Given the description of an element on the screen output the (x, y) to click on. 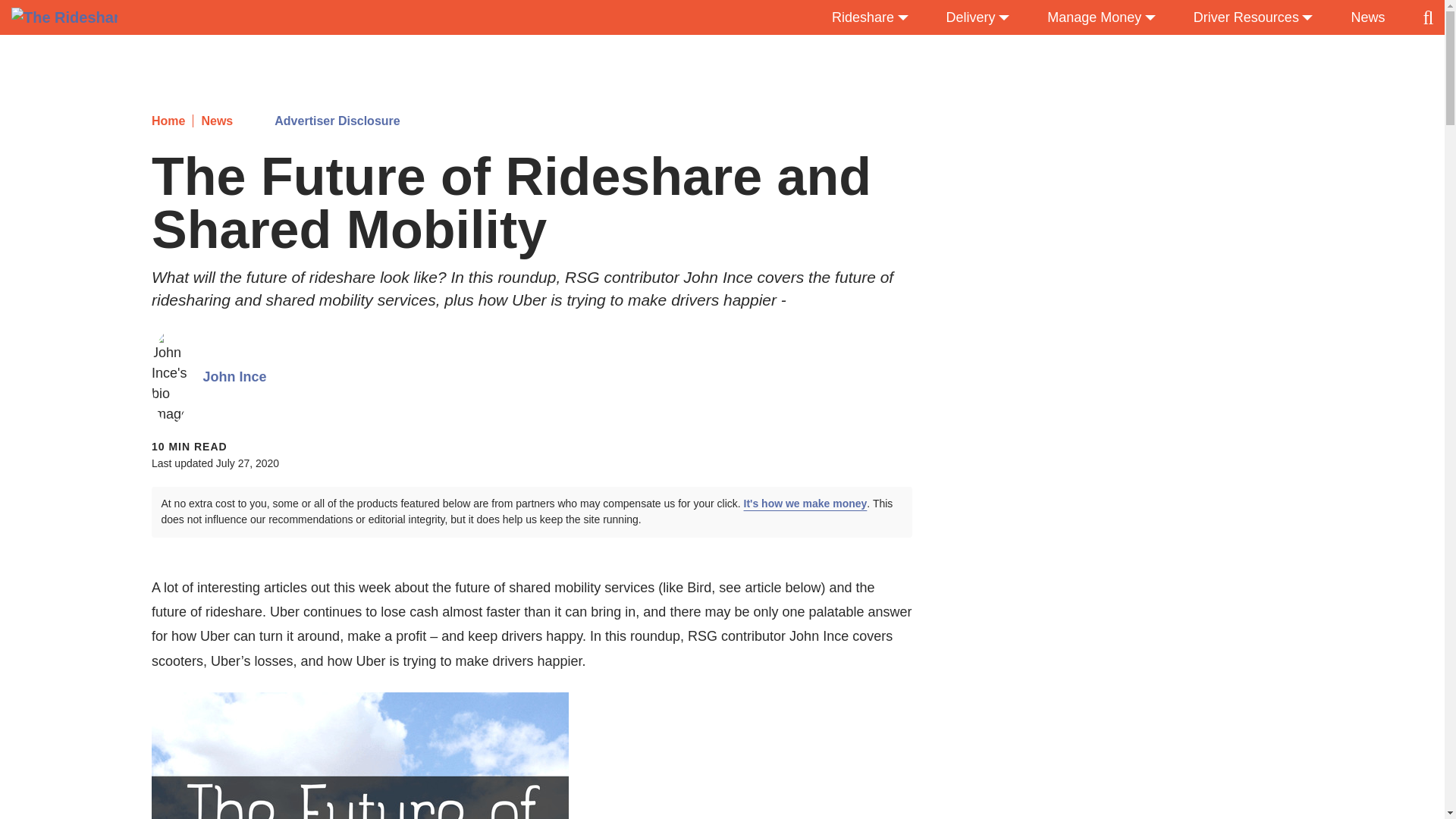
News (1367, 18)
Driver Resources (1253, 18)
It's how we make money (805, 503)
Manage Money (1101, 18)
Delivery (978, 18)
Rideshare (869, 18)
News (212, 120)
John Ince (234, 376)
Advertiser Disclosure (336, 120)
Home (167, 120)
